Given the description of an element on the screen output the (x, y) to click on. 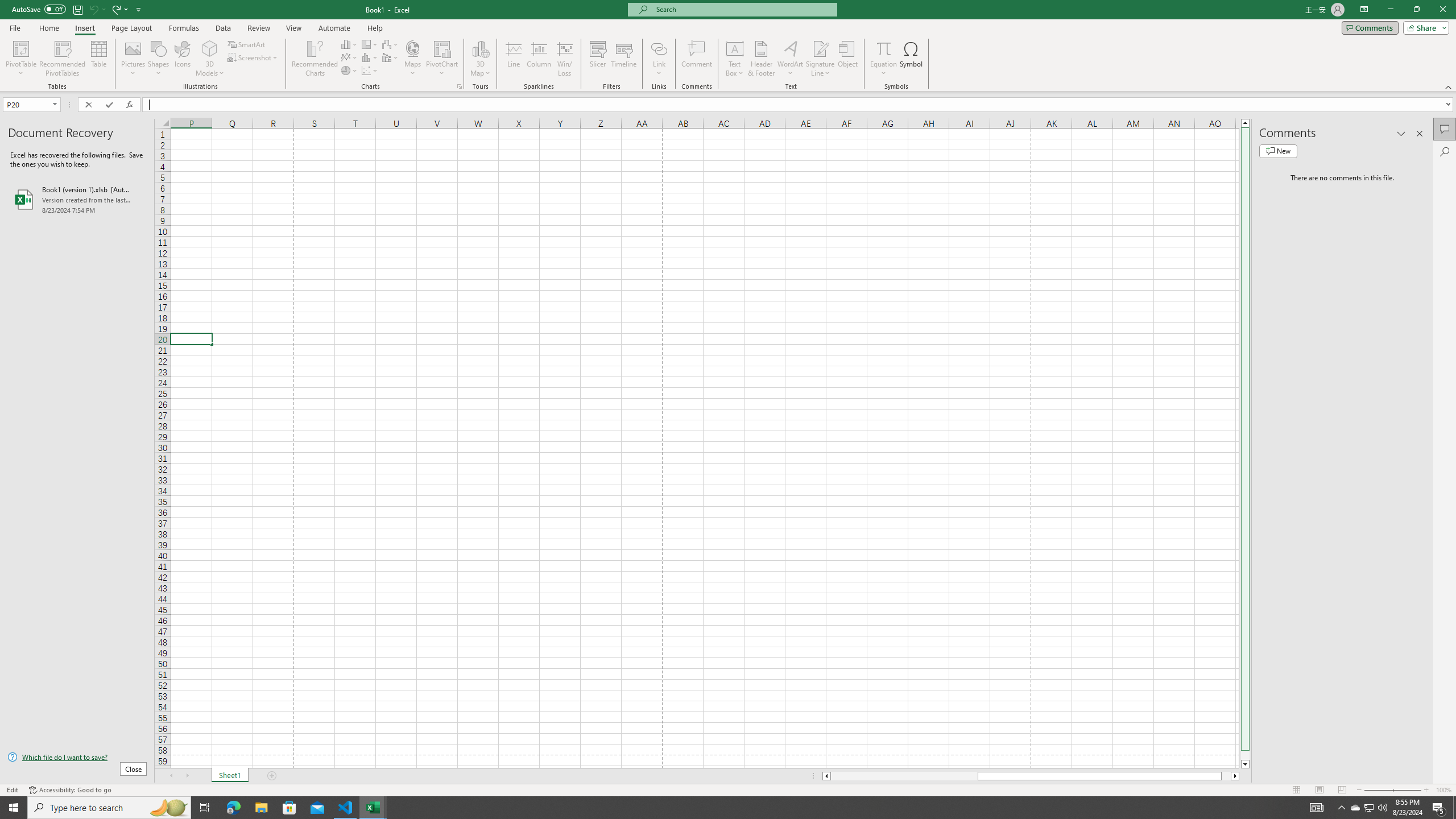
SmartArt... (247, 44)
Equation (883, 48)
Name Box (30, 104)
Table (98, 58)
Page Break Preview (1342, 790)
Review (258, 28)
Page right (1225, 775)
Book1 (version 1).xlsb  [AutoRecovered] (77, 199)
Search (1444, 151)
Redo (119, 9)
Scroll Left (171, 775)
Quick Access Toolbar (77, 9)
Screenshot (253, 56)
Line (513, 58)
